Given the description of an element on the screen output the (x, y) to click on. 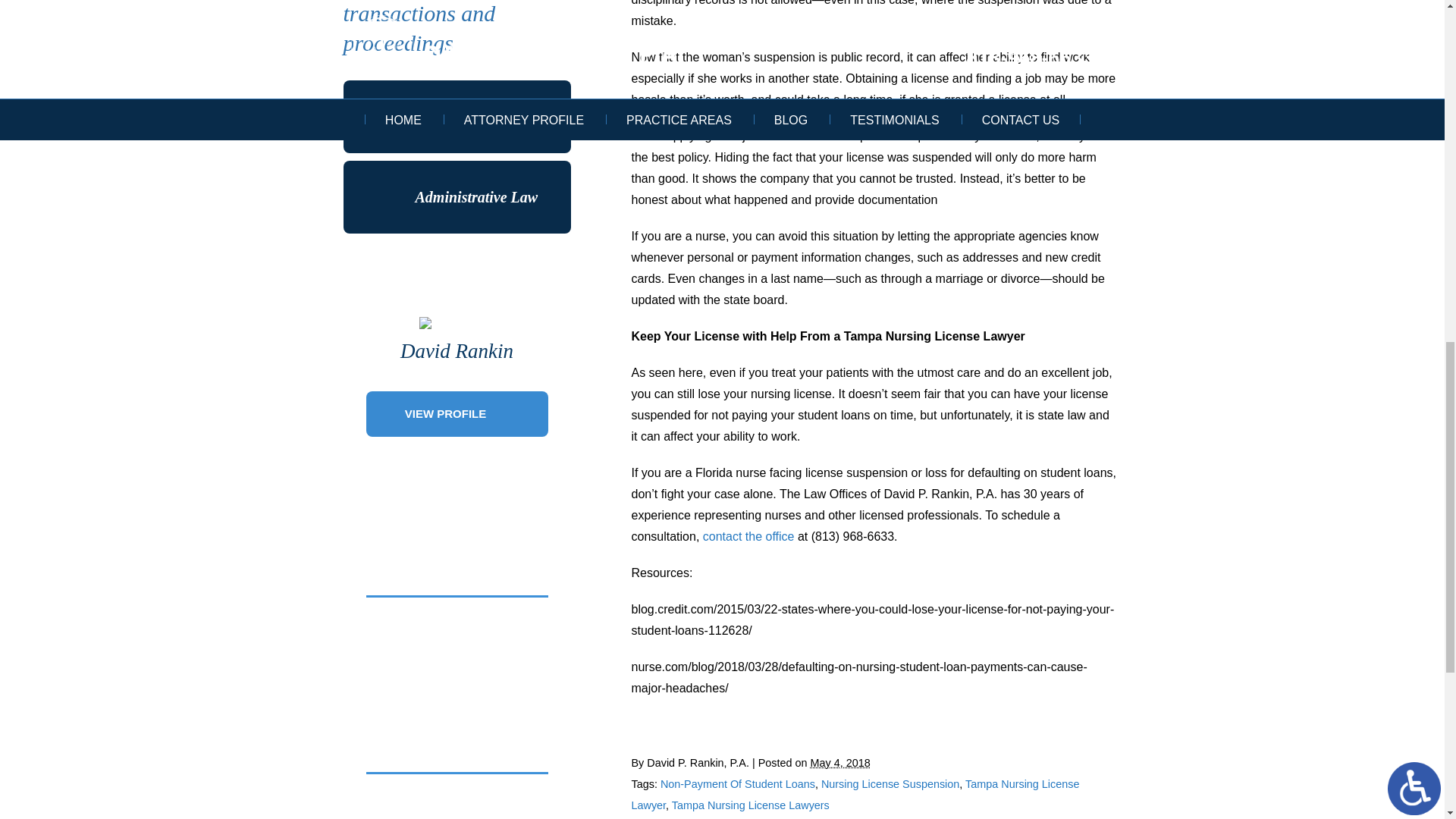
2018-05-04T05:00:03-0700 (840, 762)
Non-Payment Of Student Loans (738, 784)
contact the office (748, 535)
